Given the description of an element on the screen output the (x, y) to click on. 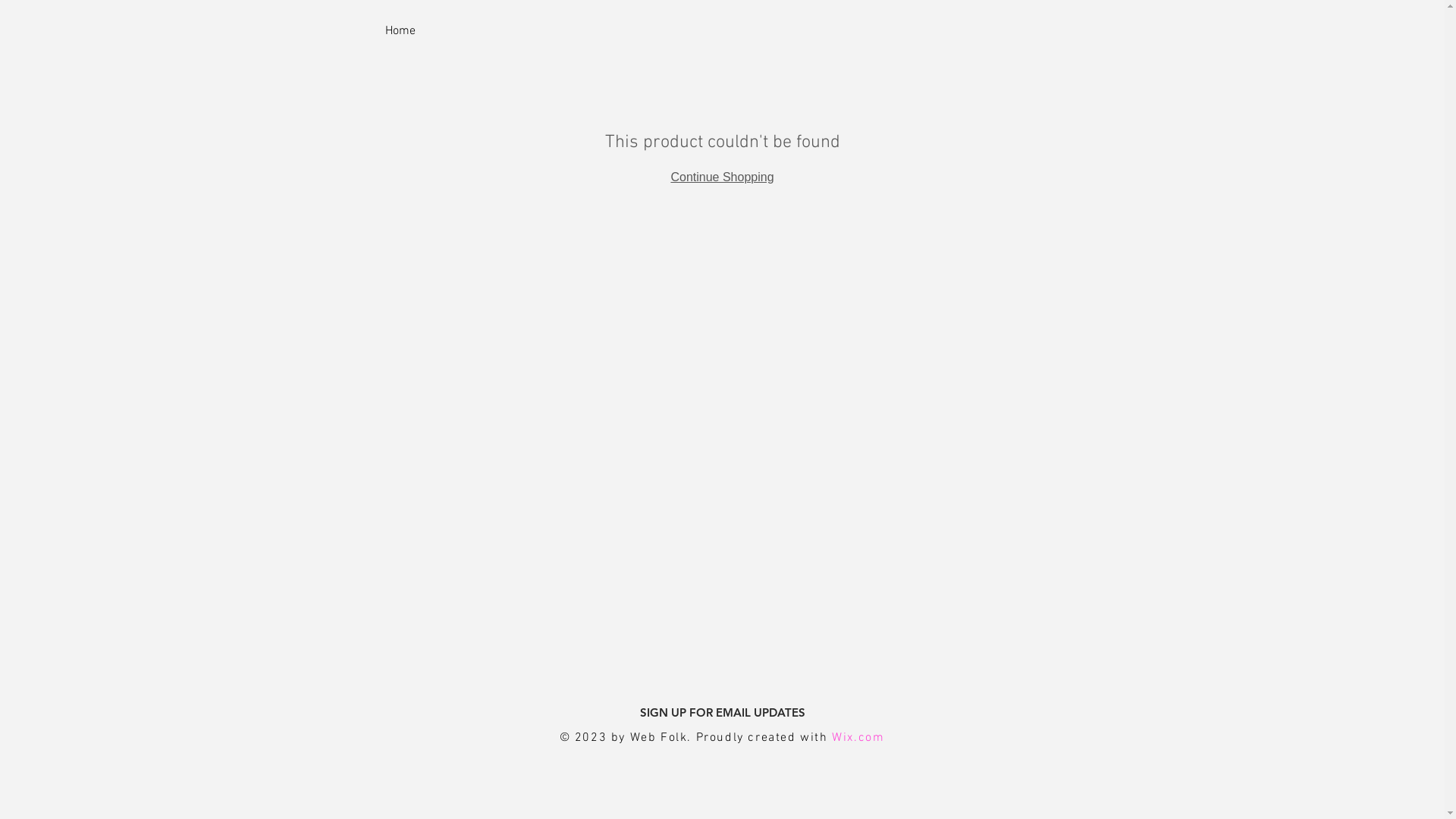
SIGN UP FOR EMAIL UPDATES Element type: text (722, 712)
Home Element type: text (400, 30)
Continue Shopping Element type: text (721, 176)
Wix.com Element type: text (857, 737)
